Given the description of an element on the screen output the (x, y) to click on. 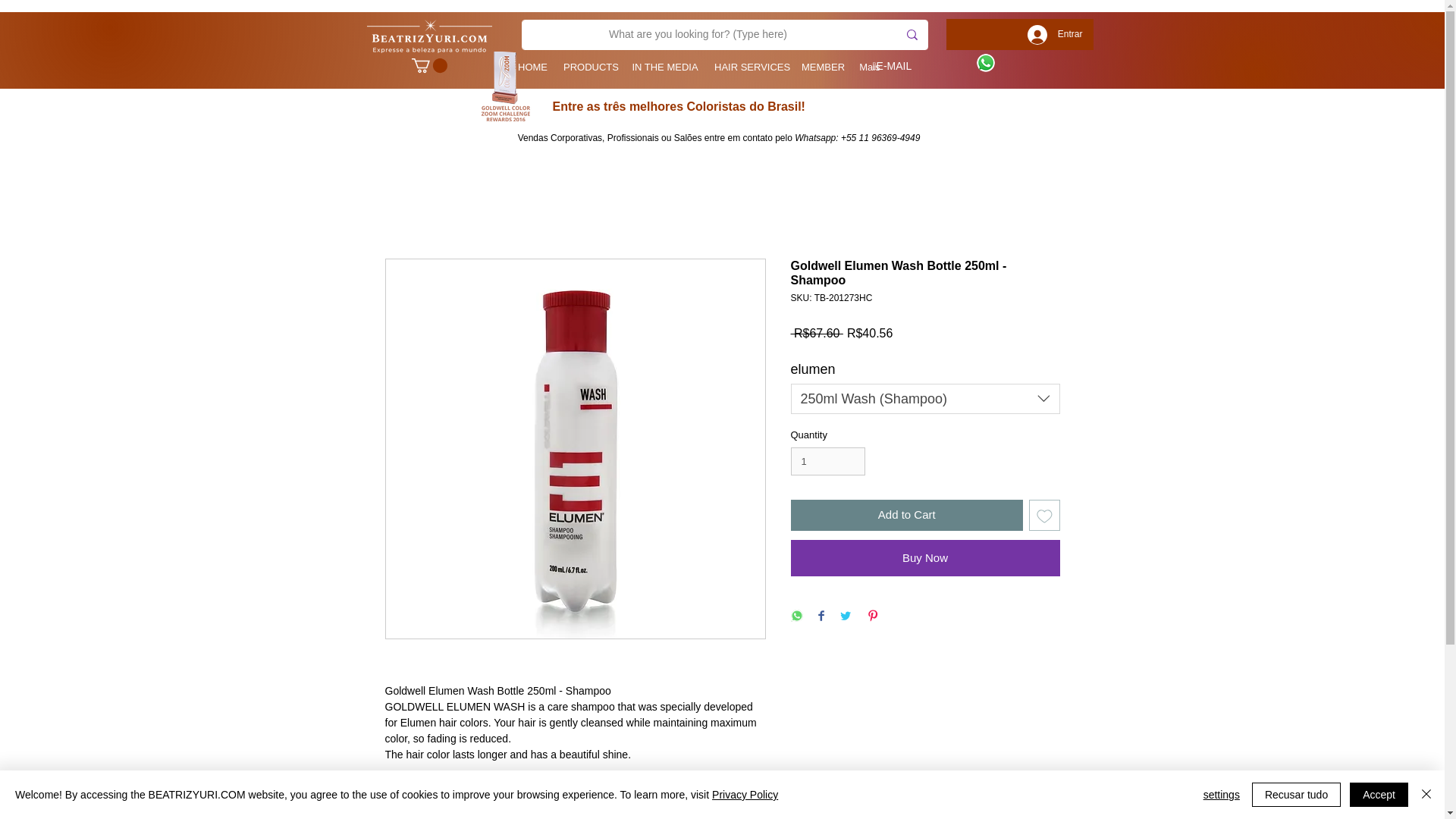
MEMBER (822, 67)
whatsapp-logo-1.png (985, 63)
HAIR SERVICES (749, 67)
PRODUCTS (589, 67)
Add to Cart (906, 514)
1 (827, 461)
IN THE MEDIA (664, 67)
Entrar (1054, 33)
Buy Now (924, 557)
HOME (532, 67)
